Given the description of an element on the screen output the (x, y) to click on. 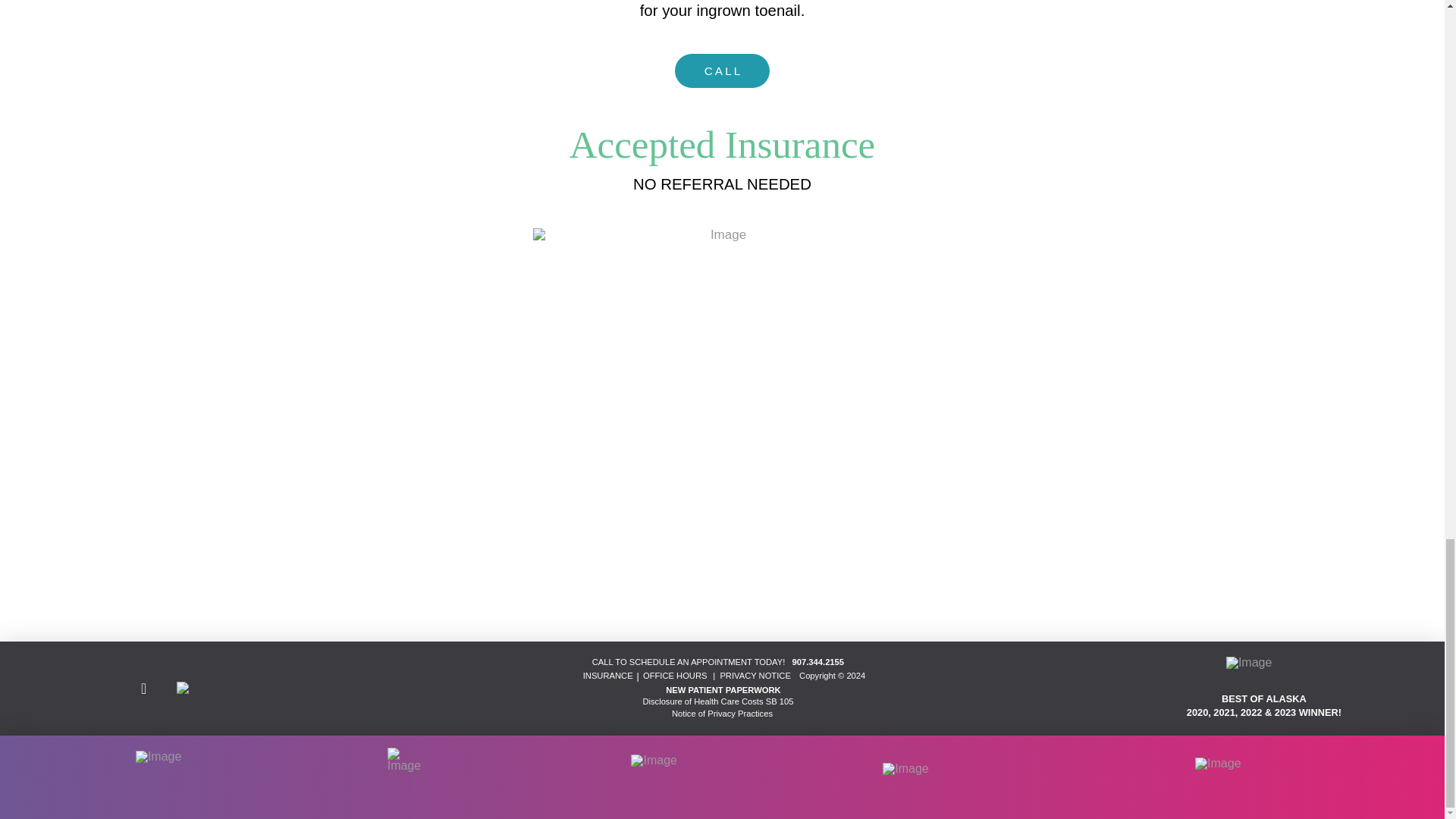
Disclosure of Health Care Costs SB 105 (717, 700)
Notice of Privacy Practices (722, 713)
907.344.2155 (816, 661)
NEW PATIENT PAPERWORK (722, 689)
PRIVACY NOTICE (754, 675)
CALL (722, 70)
